Given the description of an element on the screen output the (x, y) to click on. 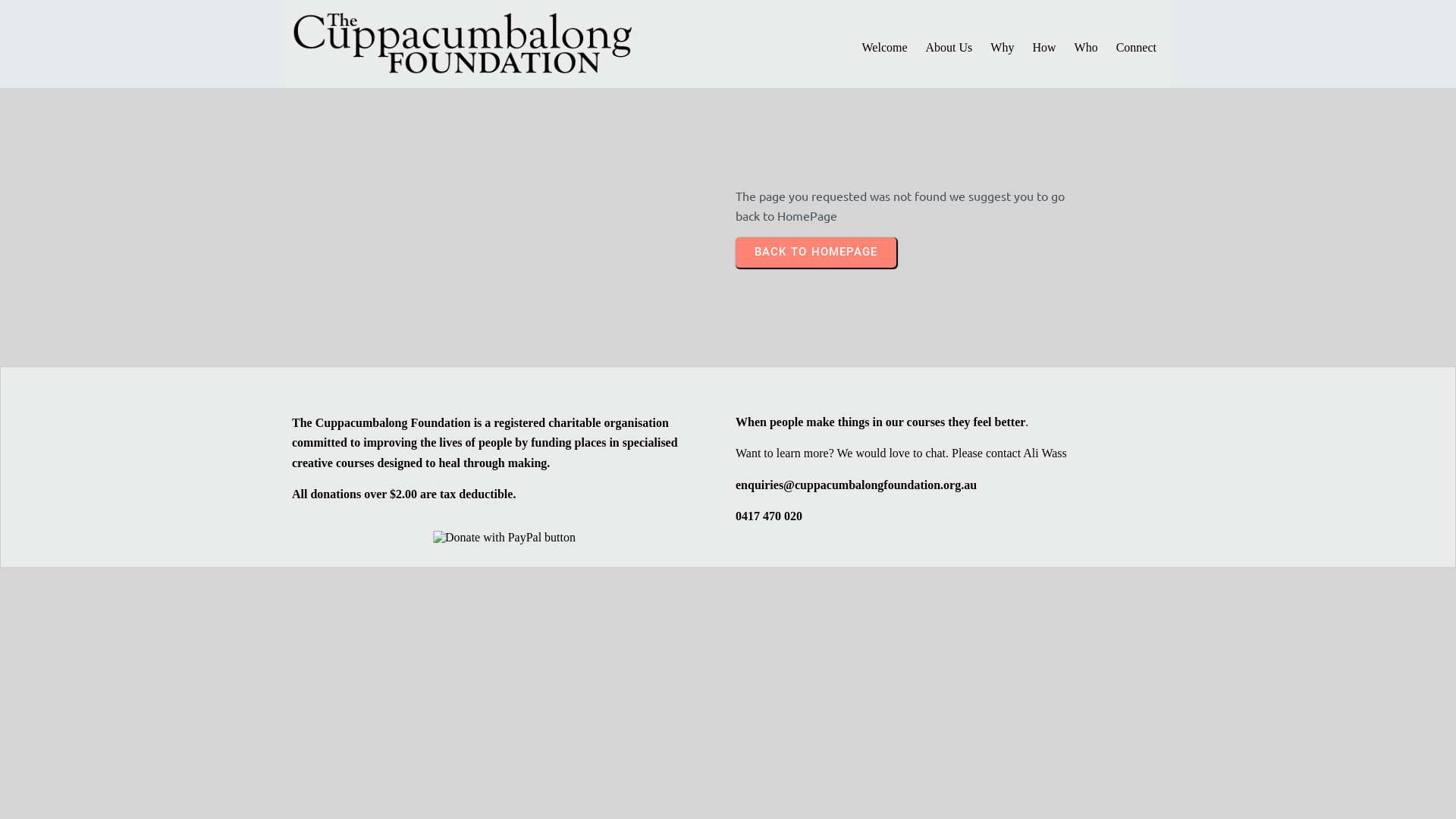
Logotype Element type: hover (461, 43)
About Us Element type: text (949, 47)
Welcome Element type: text (884, 47)
Why Element type: text (1001, 47)
Connect Element type: text (1136, 47)
Who Element type: text (1085, 47)
PayPal - The safer, easier way to pay online! Element type: hover (504, 537)
BACK TO HOMEPAGE Element type: text (815, 252)
How Element type: text (1043, 47)
